Given the description of an element on the screen output the (x, y) to click on. 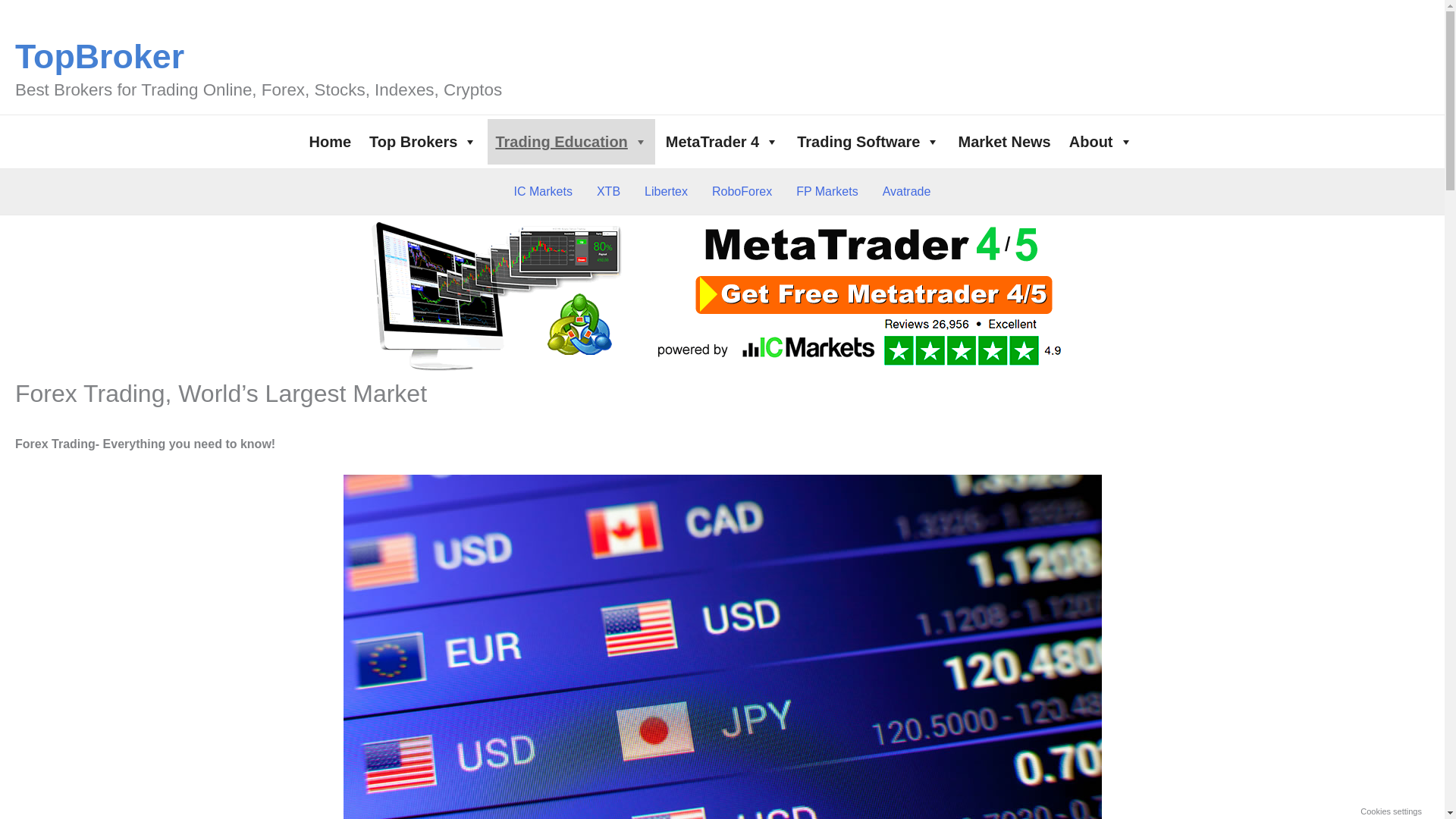
Libertex (665, 191)
FP Markets (827, 191)
TopBroker (99, 55)
IC Markets (543, 191)
About (1100, 141)
Top Brokers (422, 141)
Trading Education (570, 141)
RoboForex (742, 191)
Home (329, 141)
Market News (1004, 141)
